Given the description of an element on the screen output the (x, y) to click on. 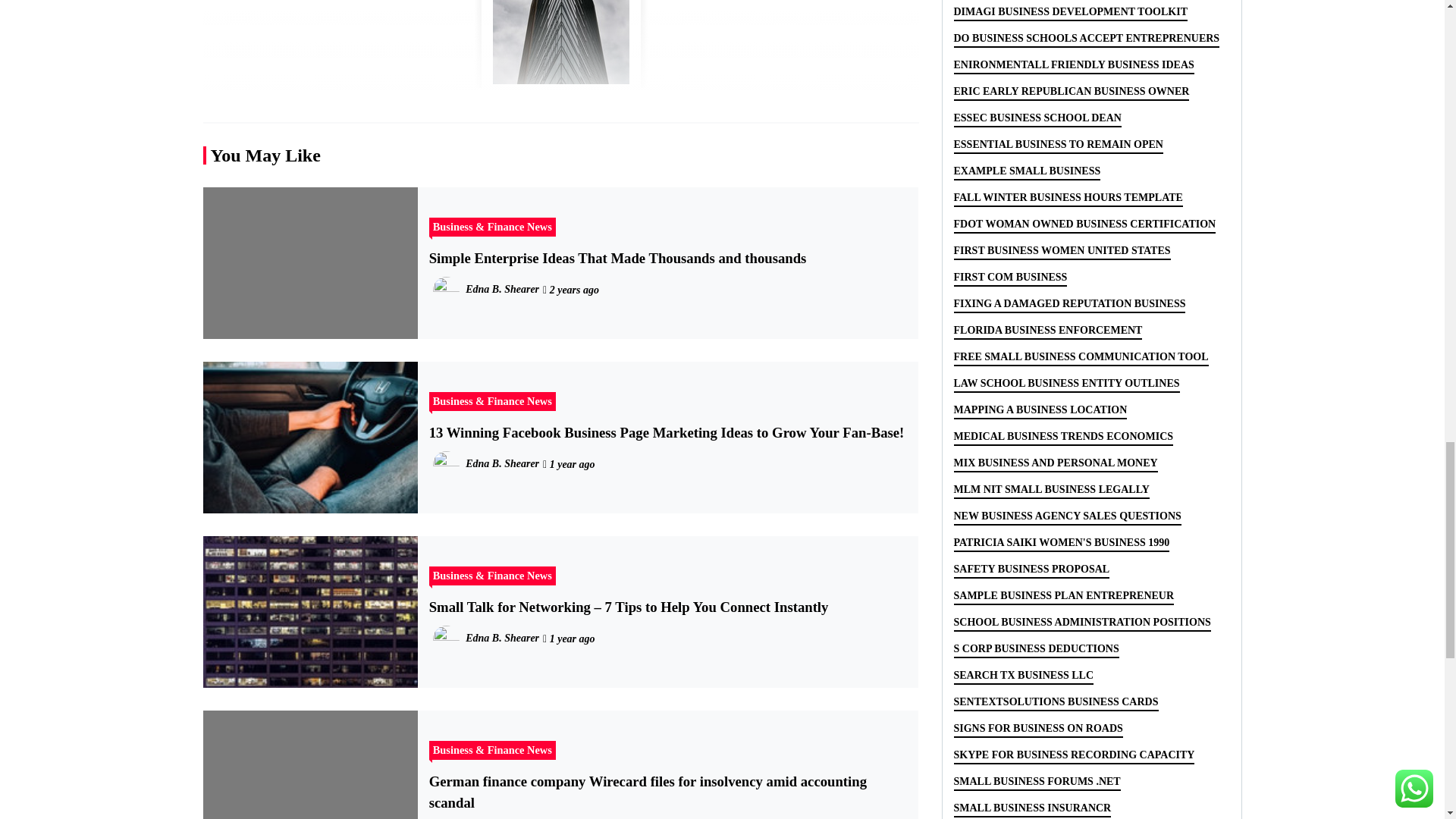
Start A Woodworking Business In Your Home (560, 47)
